Given the description of an element on the screen output the (x, y) to click on. 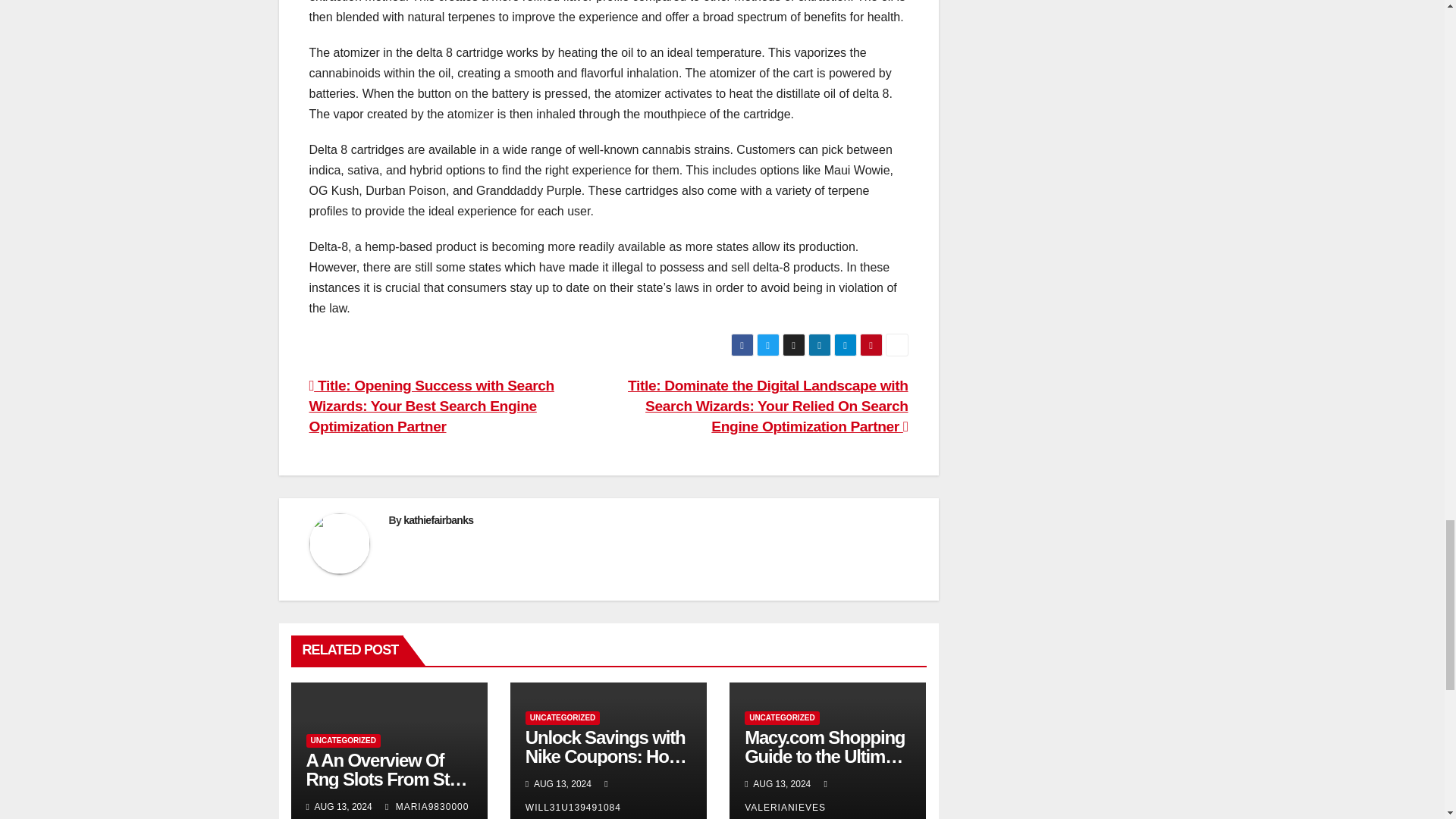
Permalink to: Macy.com Shopping Guide to the Ultimate Deals (826, 756)
kathiefairbanks (438, 520)
UNCATEGORIZED (342, 740)
MARIA9830000 (426, 806)
UNCATEGORIZED (562, 717)
